Given the description of an element on the screen output the (x, y) to click on. 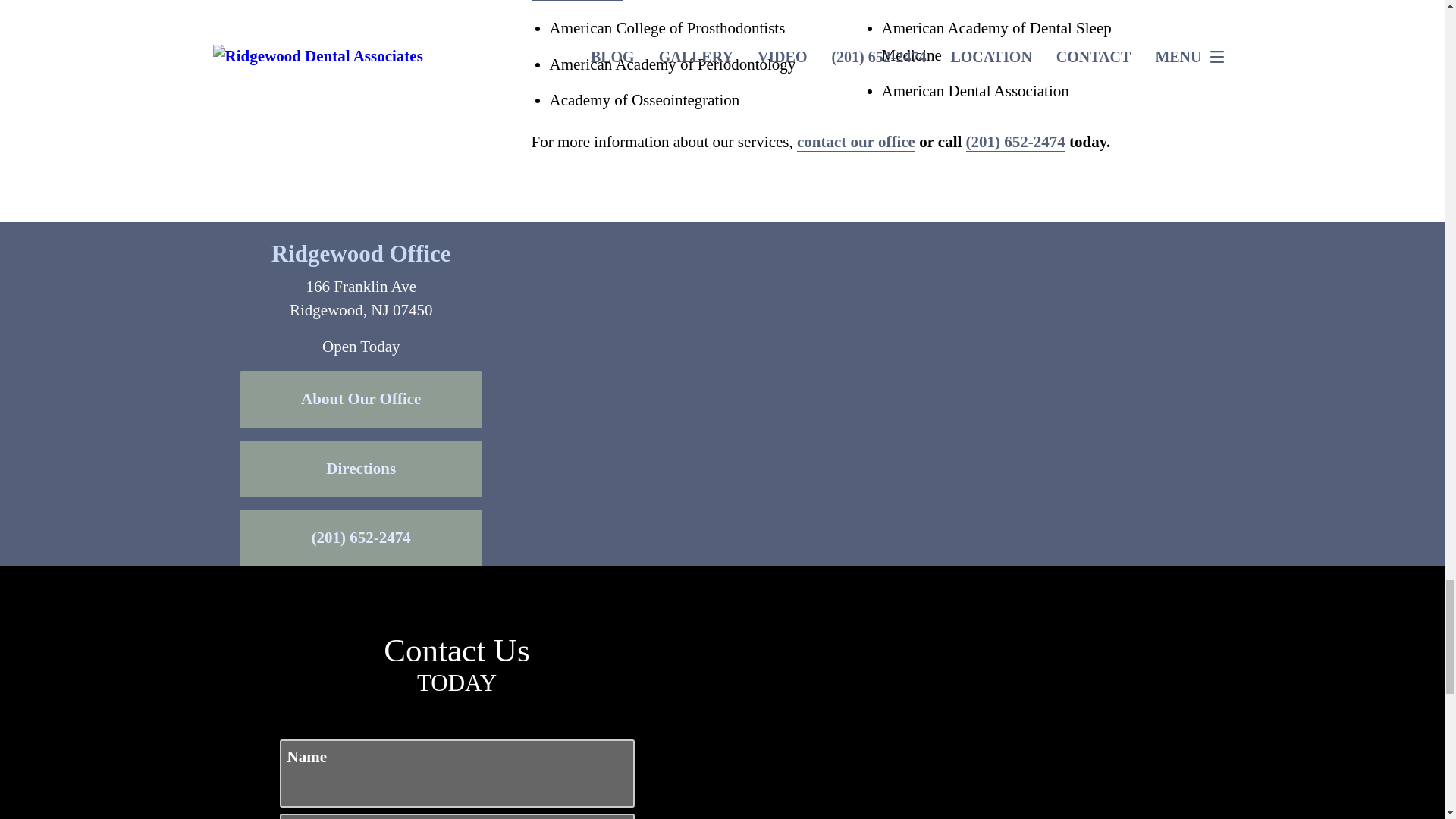
Directions (360, 468)
contact our office (855, 141)
Locations (1025, 233)
About Our Office (360, 399)
Ridgewood Office (360, 253)
